Given the description of an element on the screen output the (x, y) to click on. 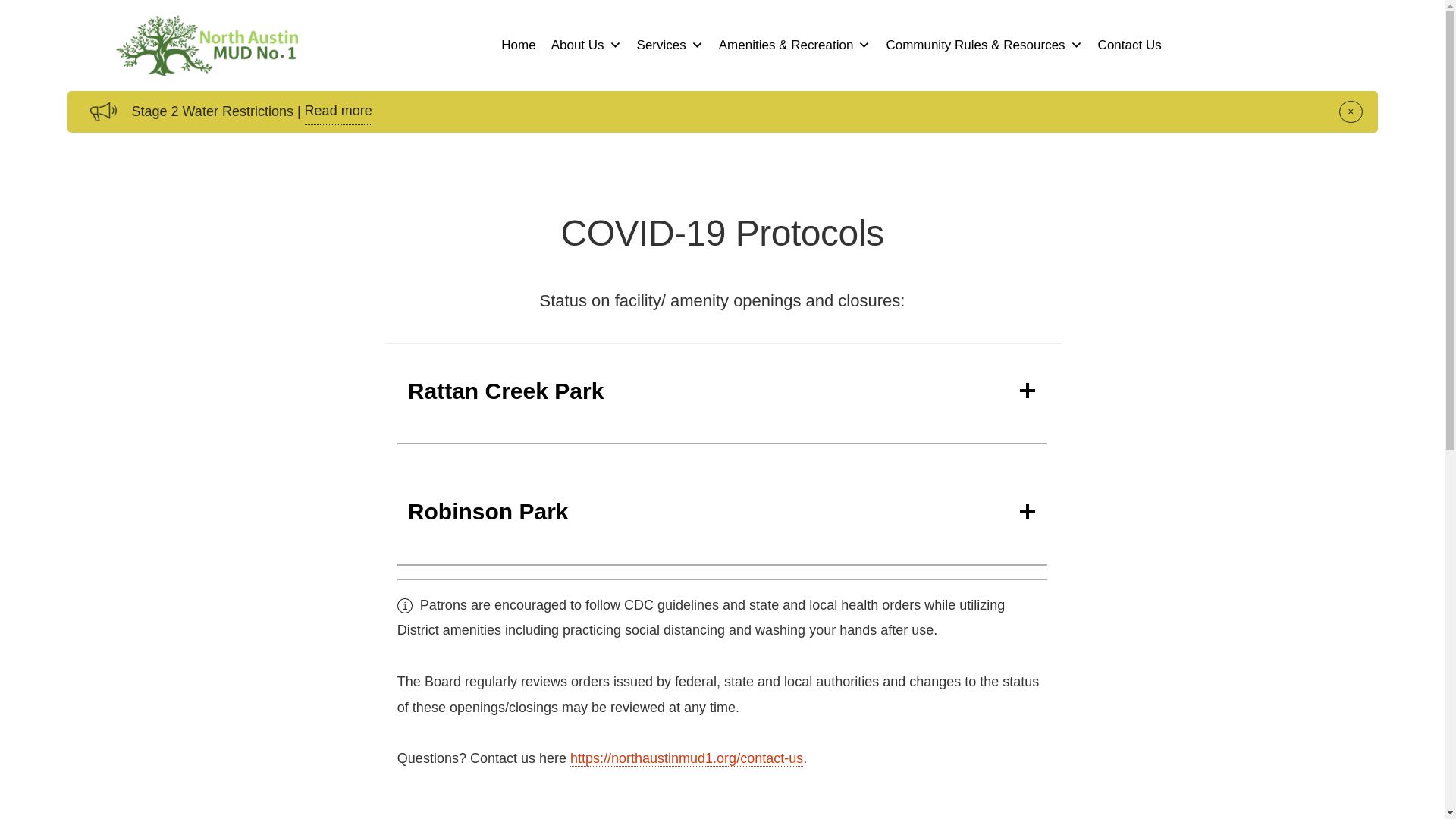
Robinson Park (721, 511)
Home (518, 45)
About Us (585, 45)
Contact Us (1129, 45)
Rattan Creek Park (721, 391)
Services (669, 45)
Read more (338, 111)
